Given the description of an element on the screen output the (x, y) to click on. 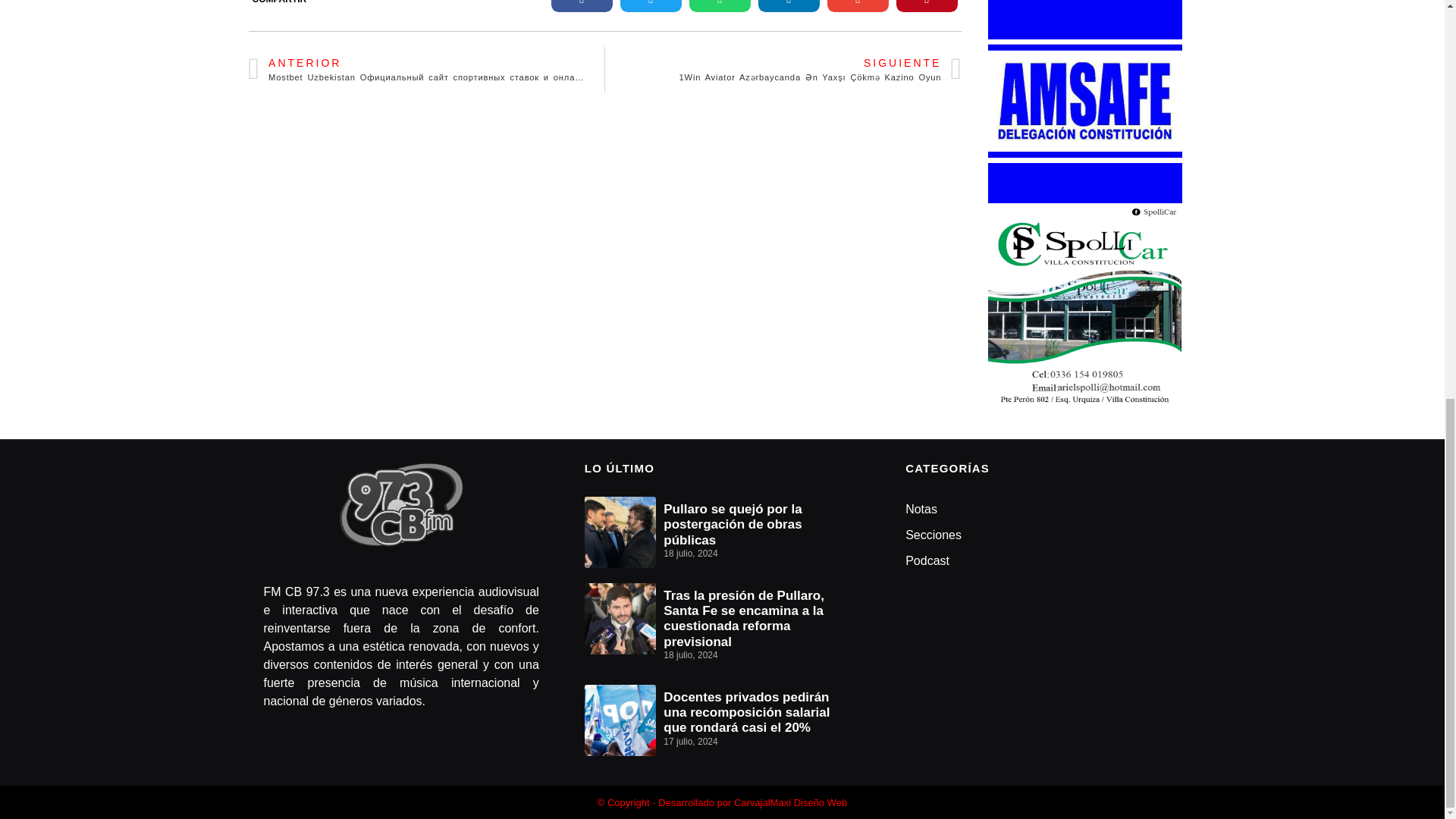
Secciones (1042, 534)
Notas (1042, 509)
Podcast (1042, 560)
